Given the description of an element on the screen output the (x, y) to click on. 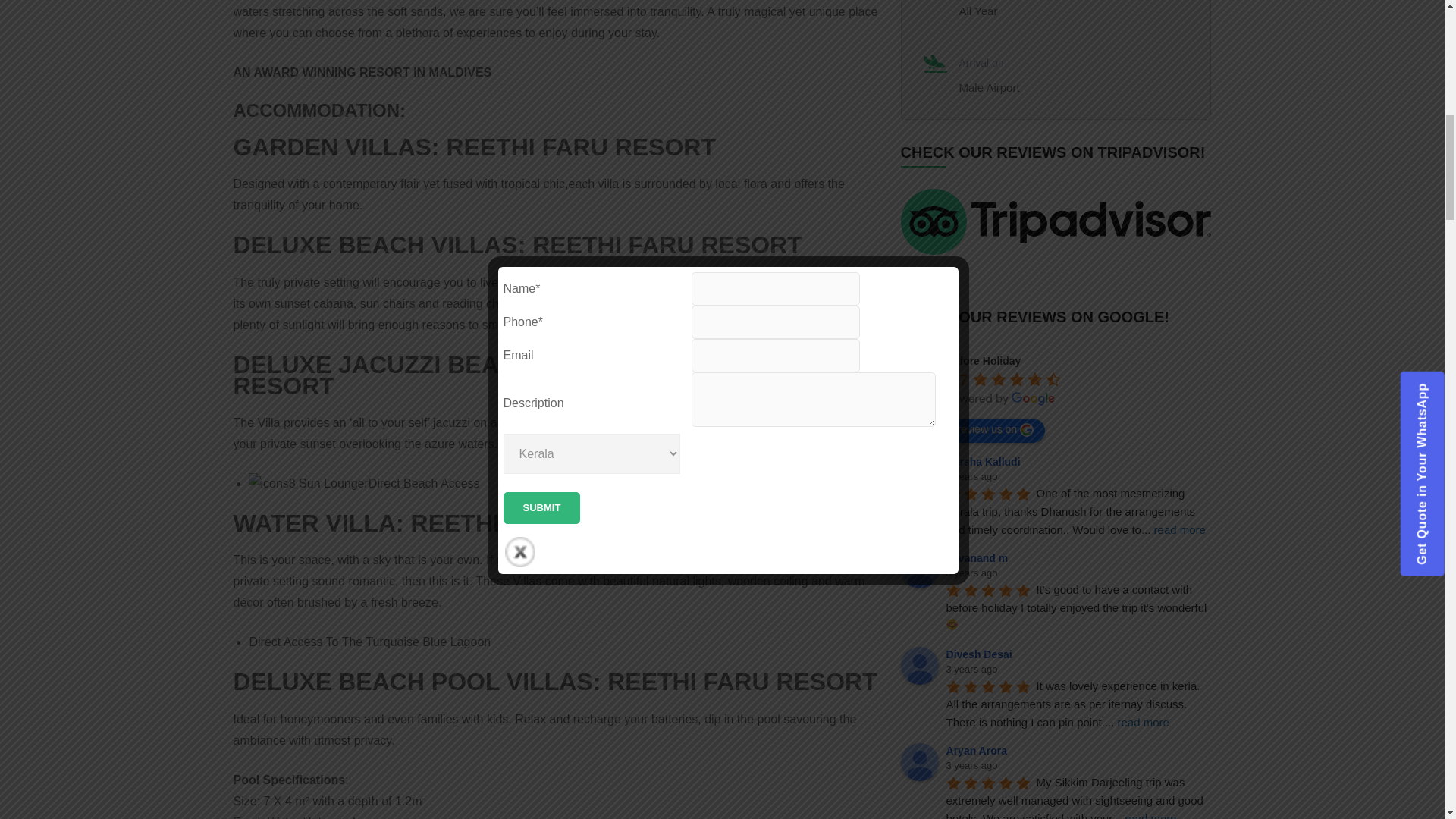
Before Holiday (920, 371)
